Given the description of an element on the screen output the (x, y) to click on. 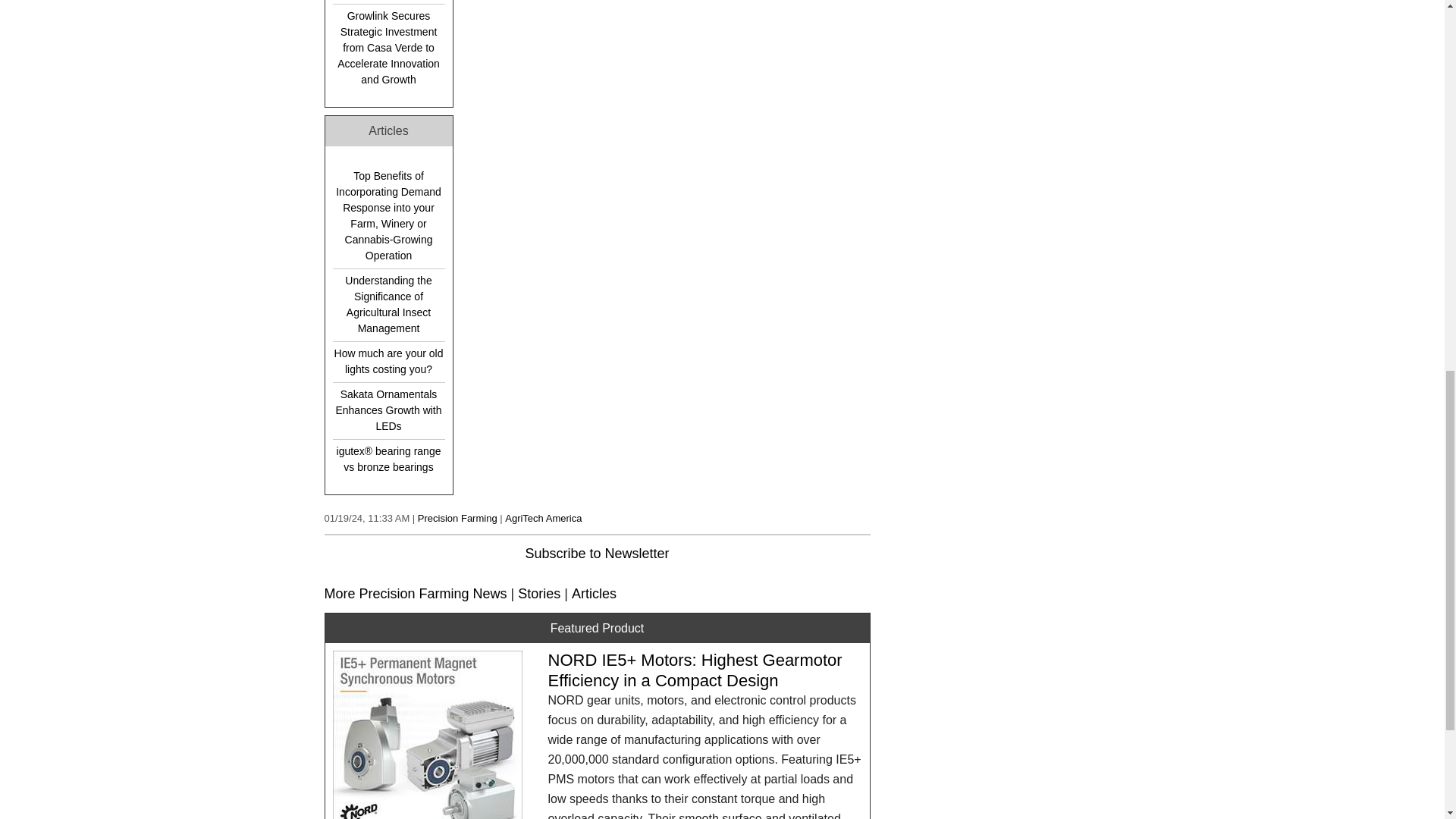
How much are your old lights costing you? (387, 361)
Subscribe to Newsletter (596, 553)
AgriTech America (542, 518)
Stories (539, 593)
Articles (593, 593)
Sakata Ornamentals Enhances Growth with LEDs (387, 410)
More Precision Farming News (415, 593)
Precision Farming (457, 518)
